Given the description of an element on the screen output the (x, y) to click on. 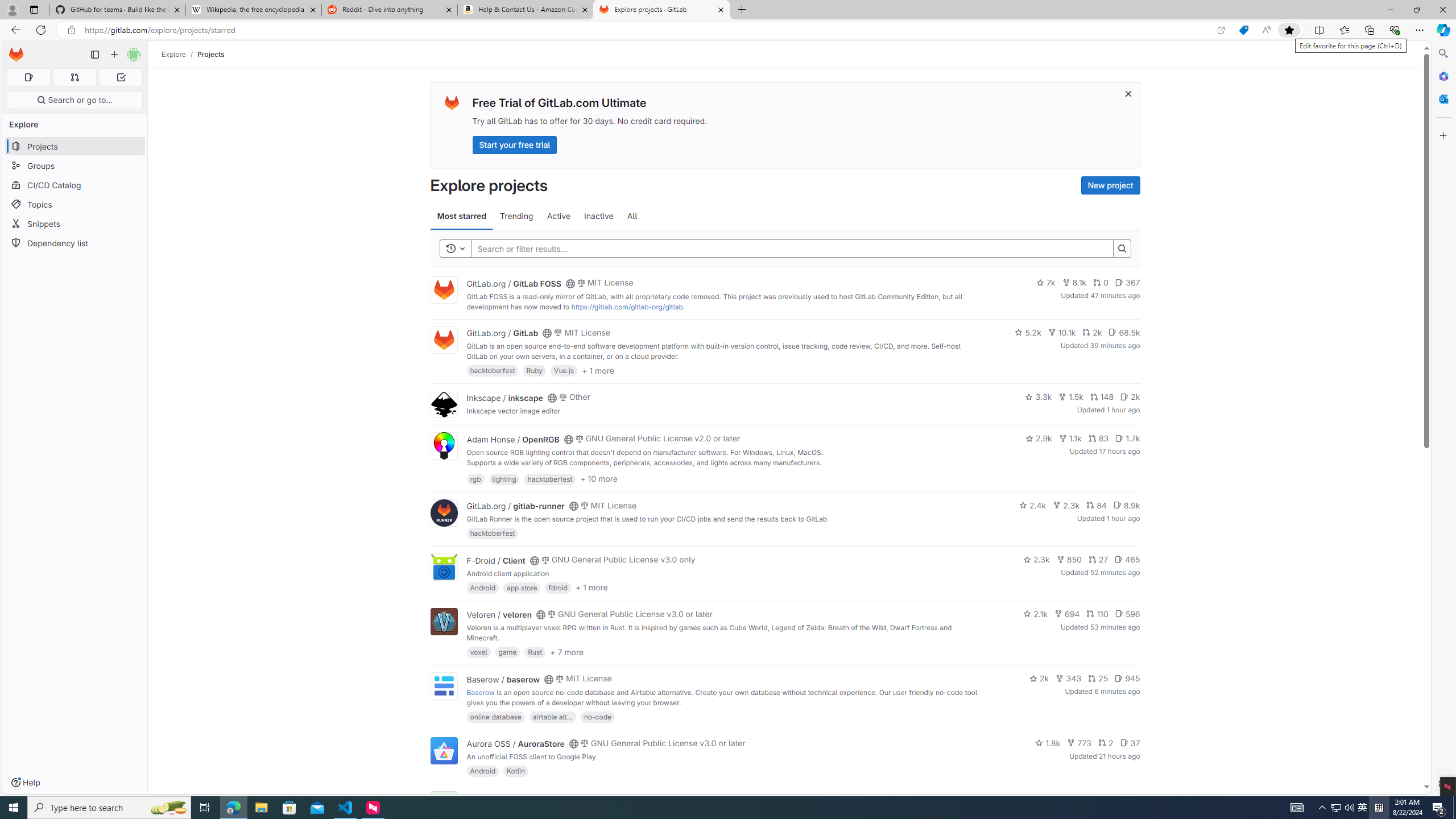
Class: s14 gl-mr-2 (1128, 796)
Kotlin (515, 770)
Dismiss trial promotion (1128, 93)
Dependency list (74, 242)
Assigned issues 0 (28, 76)
lighting (504, 478)
Snippets (74, 223)
game (507, 651)
Aurora OSS / AuroraStore (514, 743)
